Given the description of an element on the screen output the (x, y) to click on. 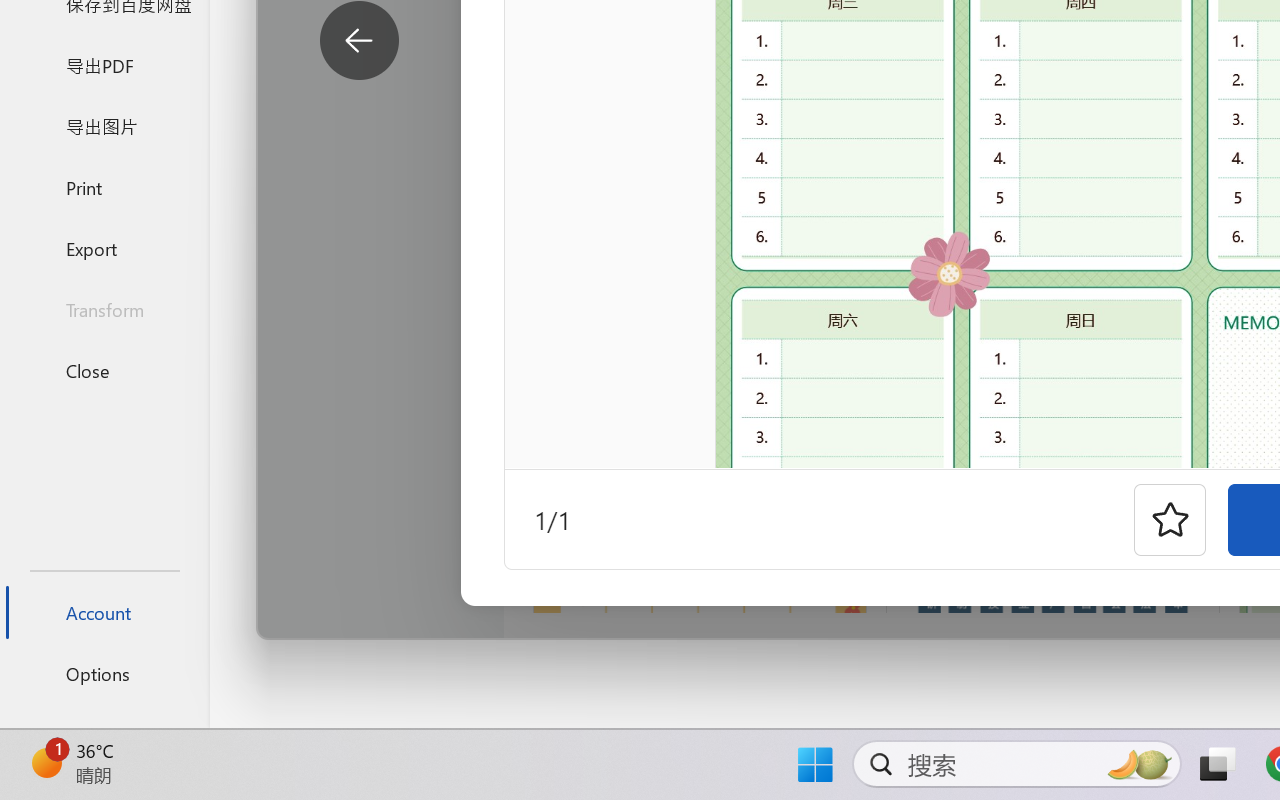
Options (104, 673)
Transform (104, 309)
Account (104, 612)
Print (104, 186)
Export (104, 248)
